Given the description of an element on the screen output the (x, y) to click on. 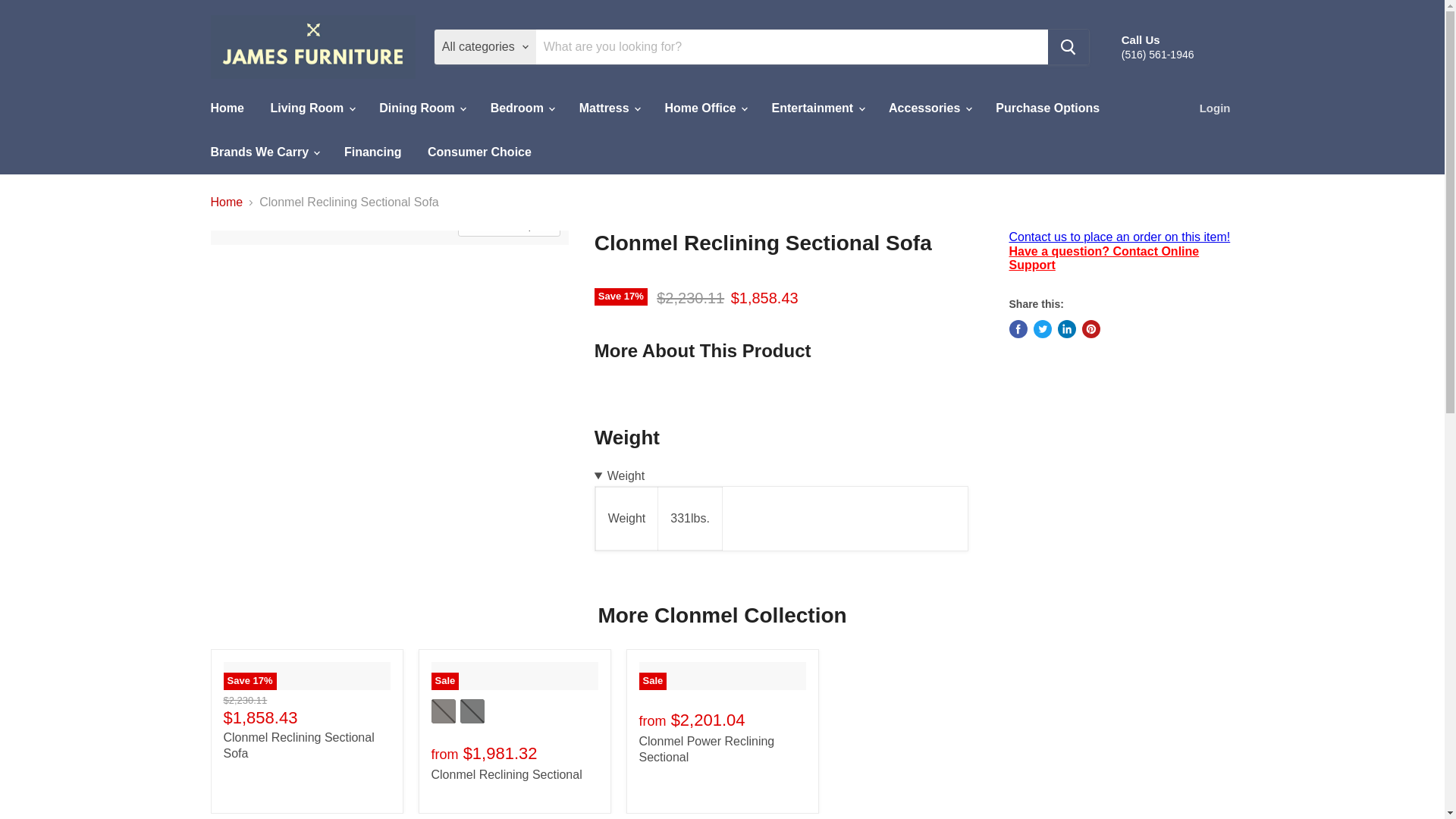
Bedroom (521, 108)
Dining Room (422, 108)
Living Room (311, 108)
Mattress (608, 108)
Home (226, 108)
